Given the description of an element on the screen output the (x, y) to click on. 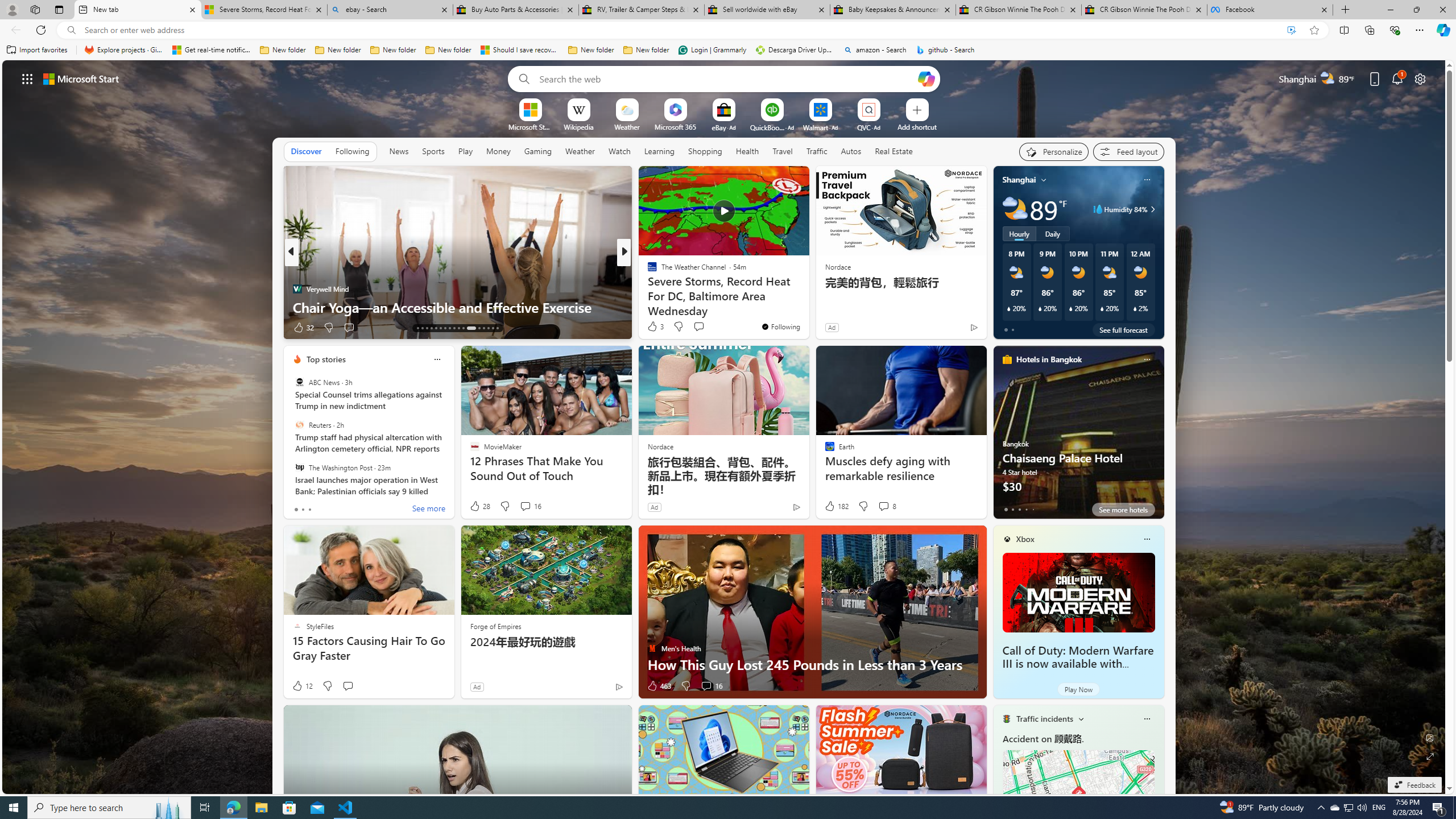
Sports (432, 151)
AutomationID: tab-13 (417, 328)
Facebook (1270, 9)
Humidity 84% (1150, 208)
RV, Trailer & Camper Steps & Ladders for sale | eBay (641, 9)
Dailymotion (647, 288)
Play Now (1078, 689)
View comments 16 Comment (705, 685)
